Given the description of an element on the screen output the (x, y) to click on. 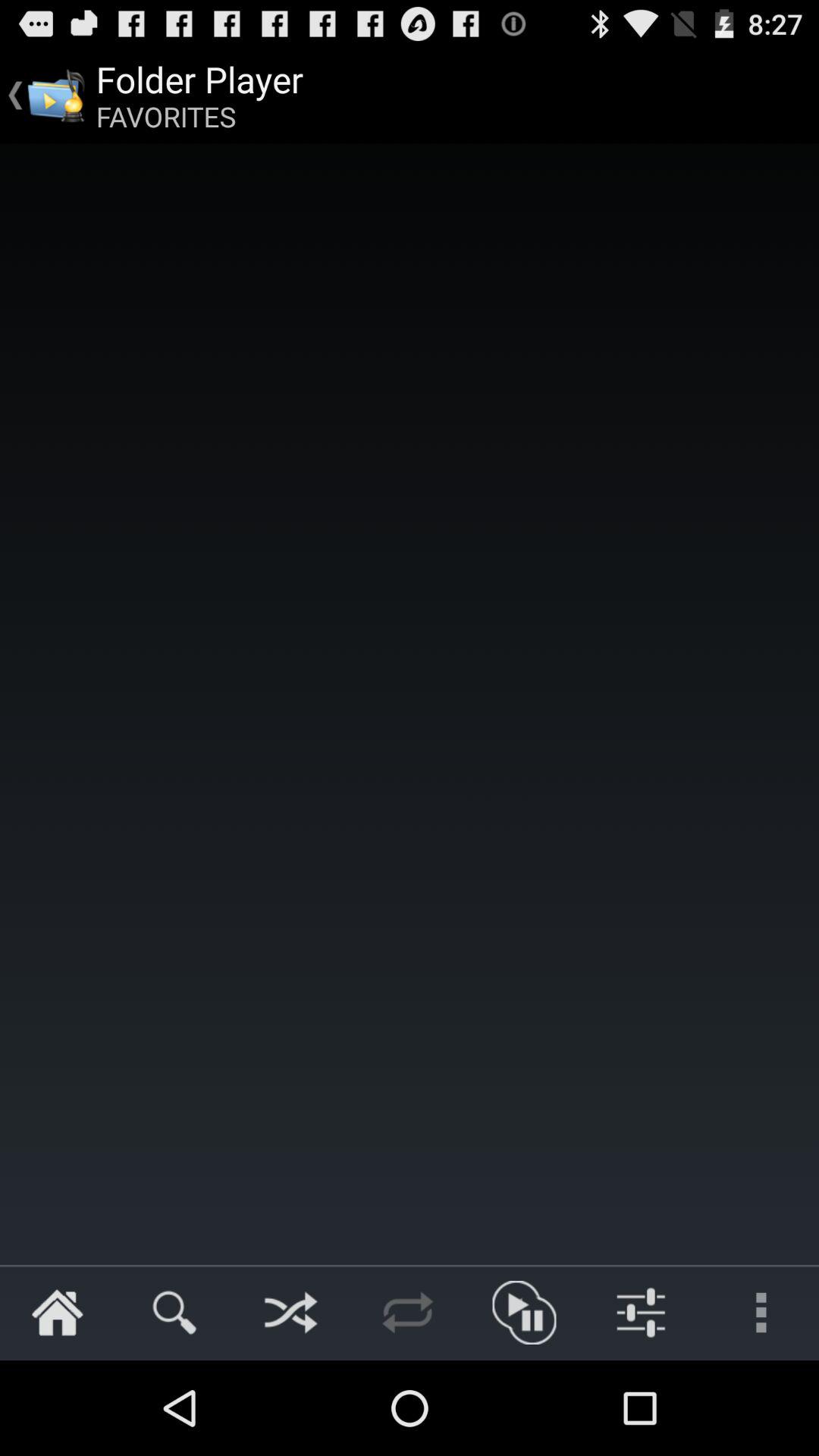
turn on the item below the favorites (409, 703)
